Given the description of an element on the screen output the (x, y) to click on. 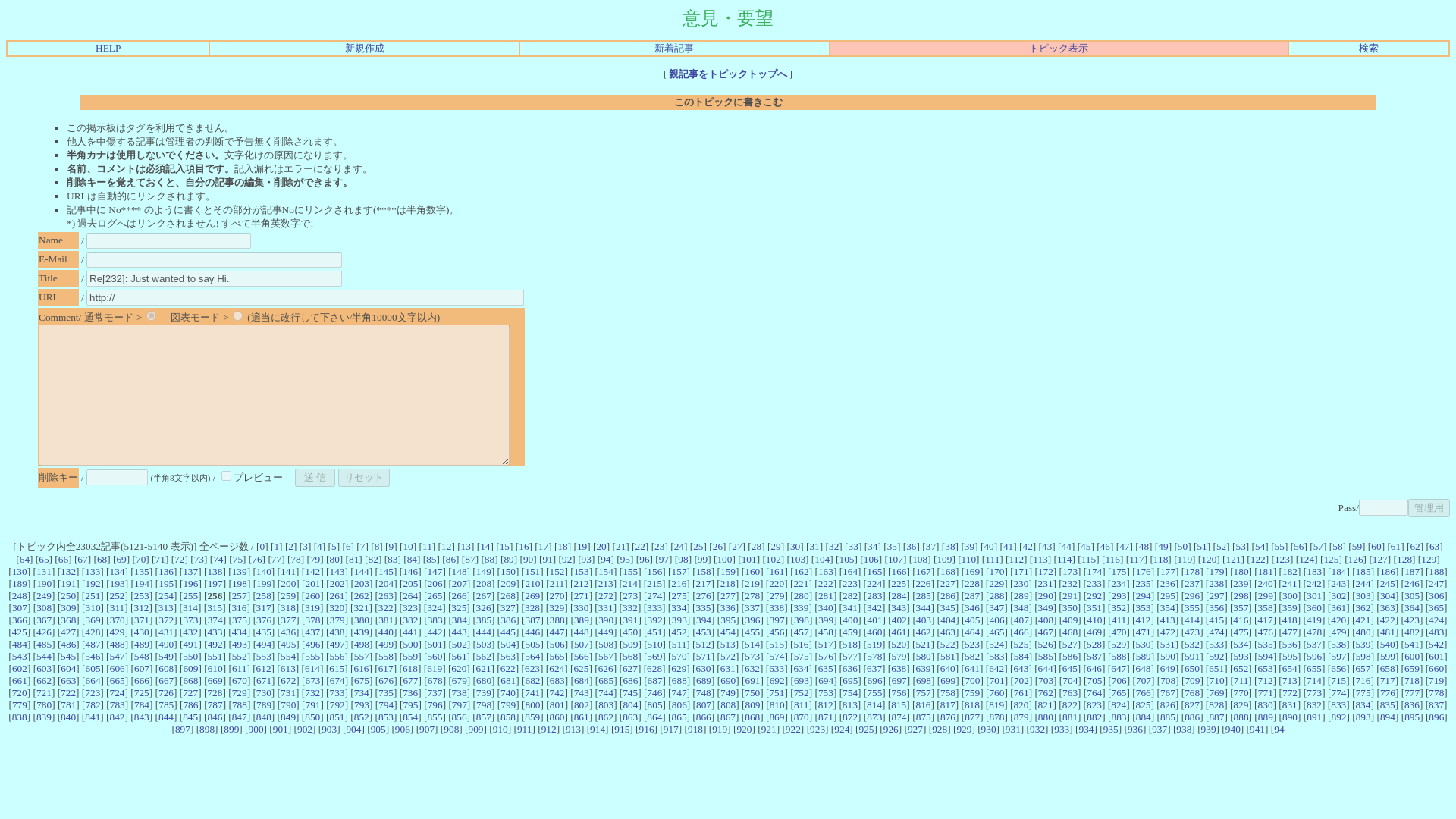
28 (756, 546)
23 (658, 546)
0 (262, 546)
1 (226, 475)
30 (794, 546)
17 (543, 546)
24 (679, 546)
27 (736, 546)
13 (465, 546)
HELP (108, 48)
11 (427, 546)
7 (362, 546)
5 (333, 546)
4 (319, 546)
10 (407, 546)
